Given the description of an element on the screen output the (x, y) to click on. 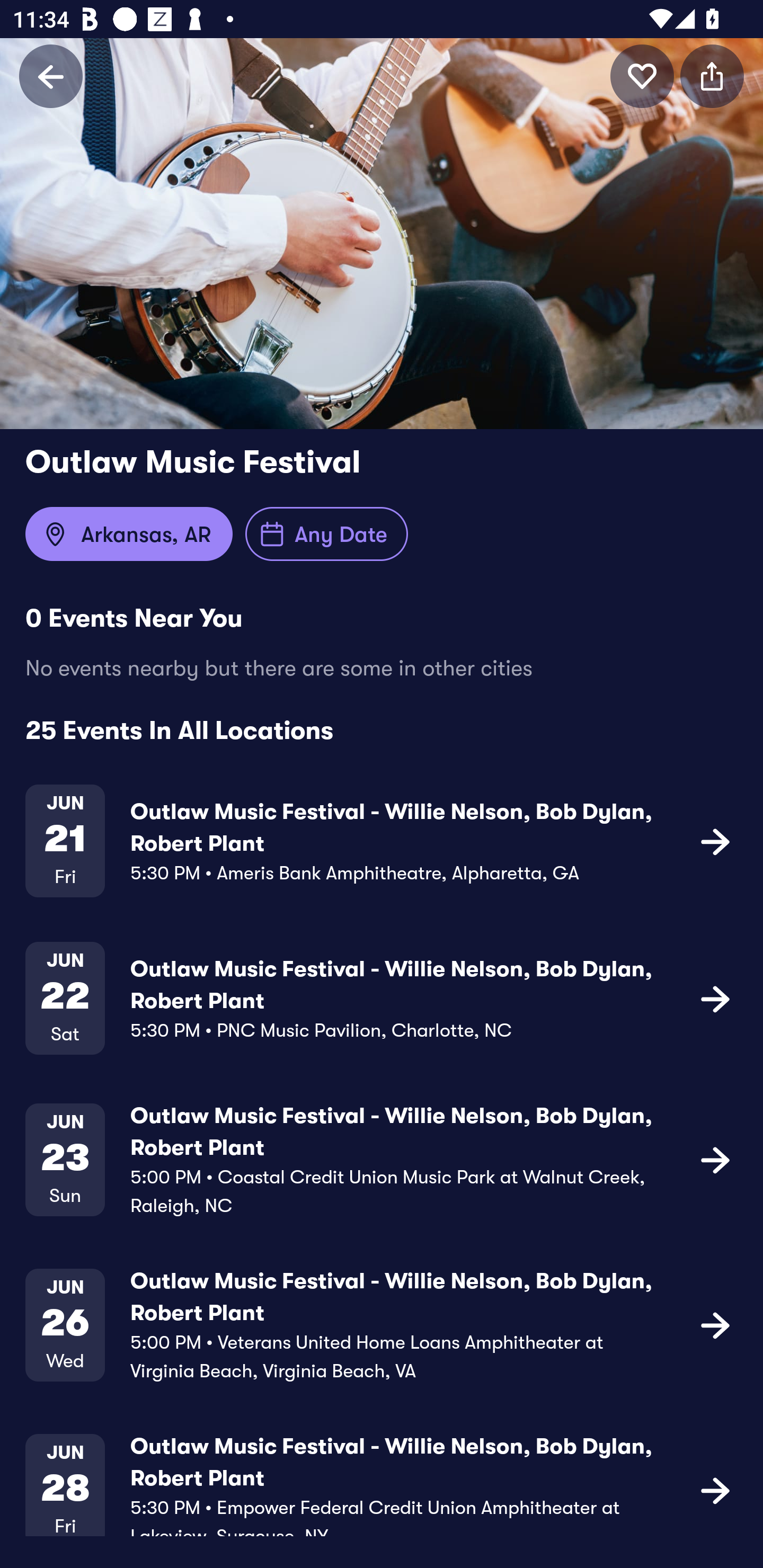
Back (50, 75)
icon button (641, 75)
icon button (711, 75)
Arkansas, AR (128, 533)
Any Date (326, 533)
icon button (714, 840)
icon button (714, 998)
icon button (714, 1159)
icon button (714, 1324)
icon button (714, 1490)
